Given the description of an element on the screen output the (x, y) to click on. 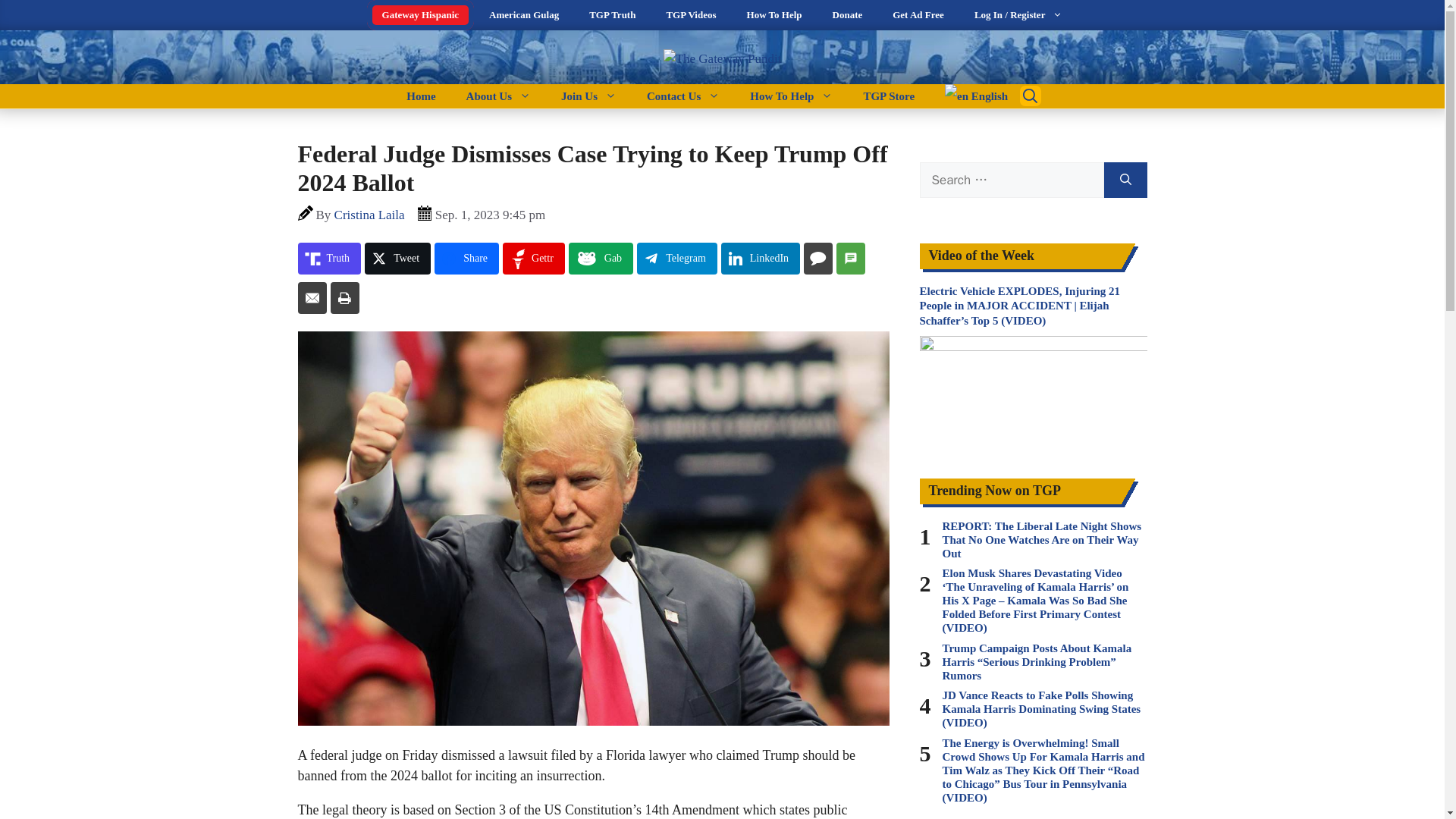
Share on Telegram (677, 258)
Contact Us (683, 96)
Share on LinkedIn (759, 258)
Share on Truth (329, 258)
Home (420, 96)
Join Us (588, 96)
Get Ad Free (918, 15)
American Gulag (523, 15)
